Given the description of an element on the screen output the (x, y) to click on. 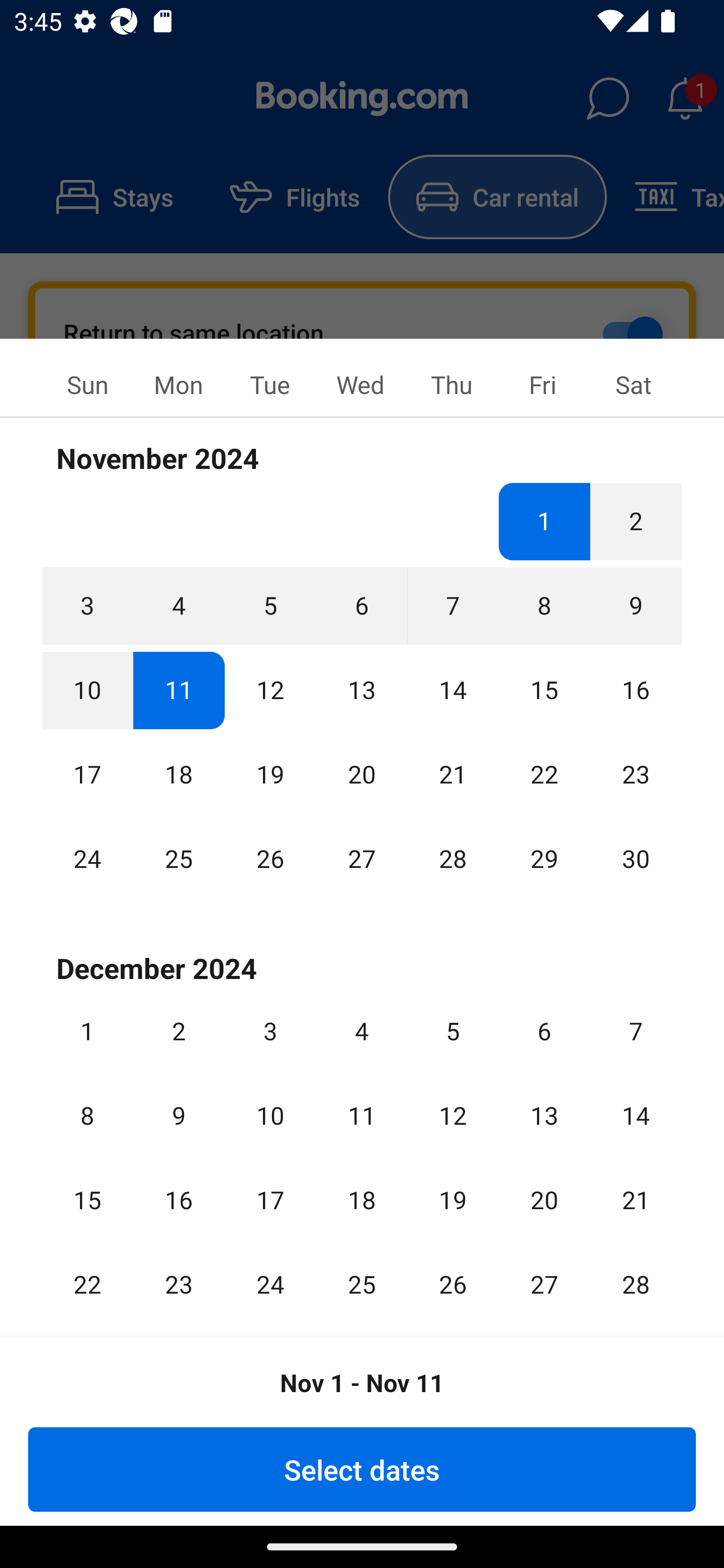
Select dates (361, 1468)
